Given the description of an element on the screen output the (x, y) to click on. 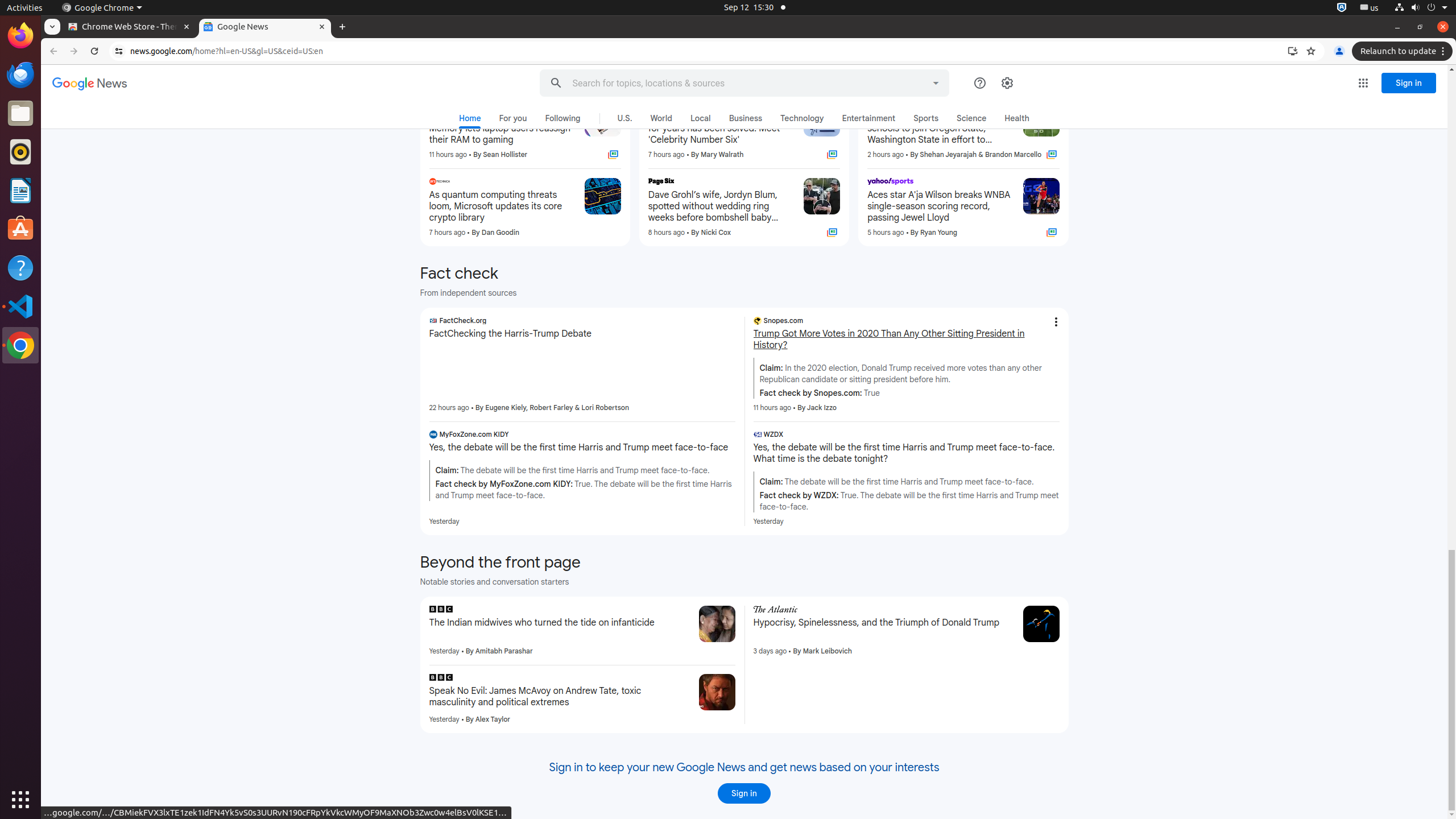
Following Element type: menu-item (562, 118)
Settings Element type: push-button (1006, 82)
Help Element type: push-button (20, 267)
More - As quantum computing threats loom, Microsoft updates its core crypto library Element type: push-button (571, 183)
Speak No Evil: James McAvoy on Andrew Tate, toxic masculinity and political extremes Element type: link (558, 696)
